Given the description of an element on the screen output the (x, y) to click on. 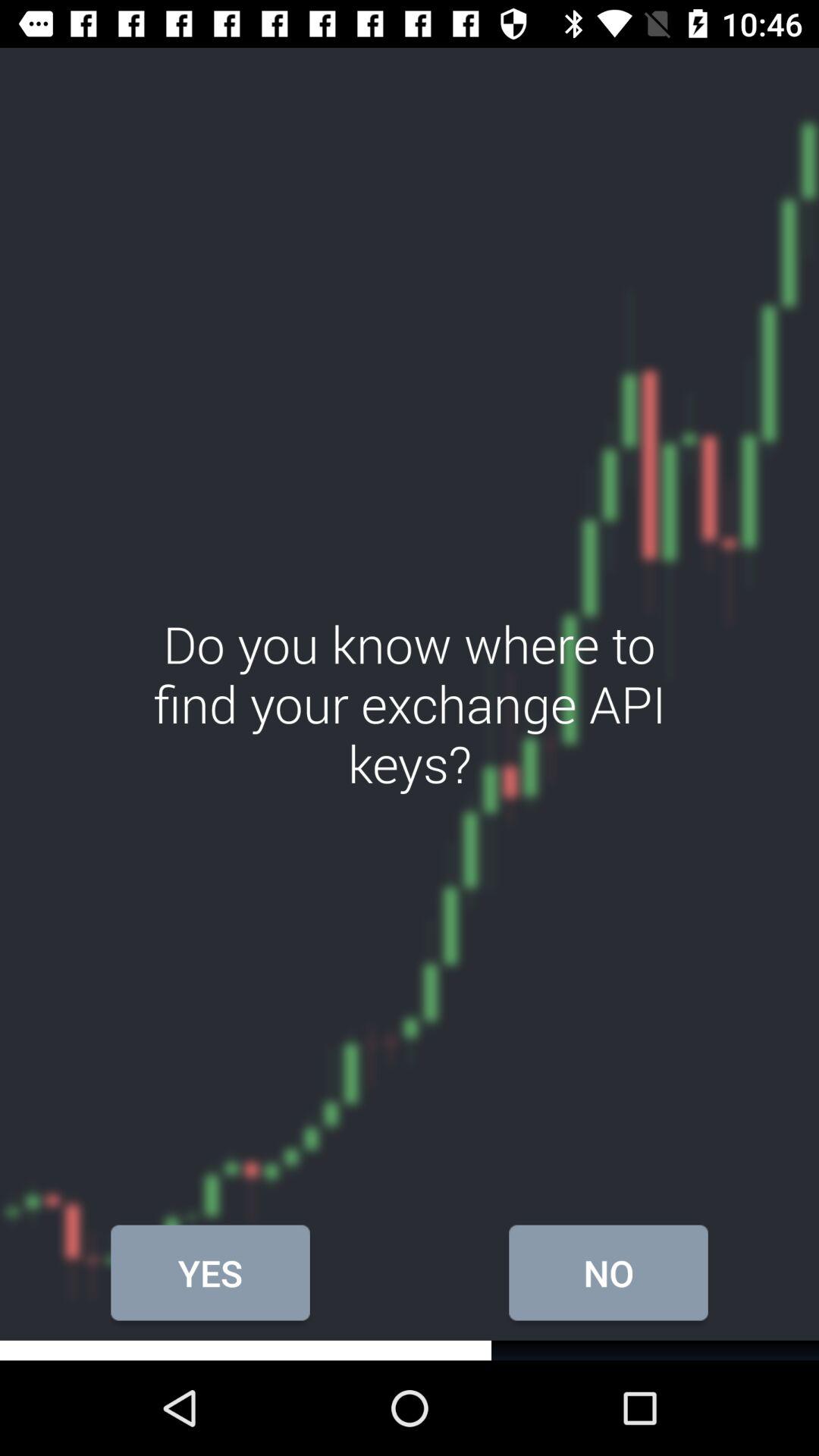
turn off the icon below do you know (608, 1272)
